Given the description of an element on the screen output the (x, y) to click on. 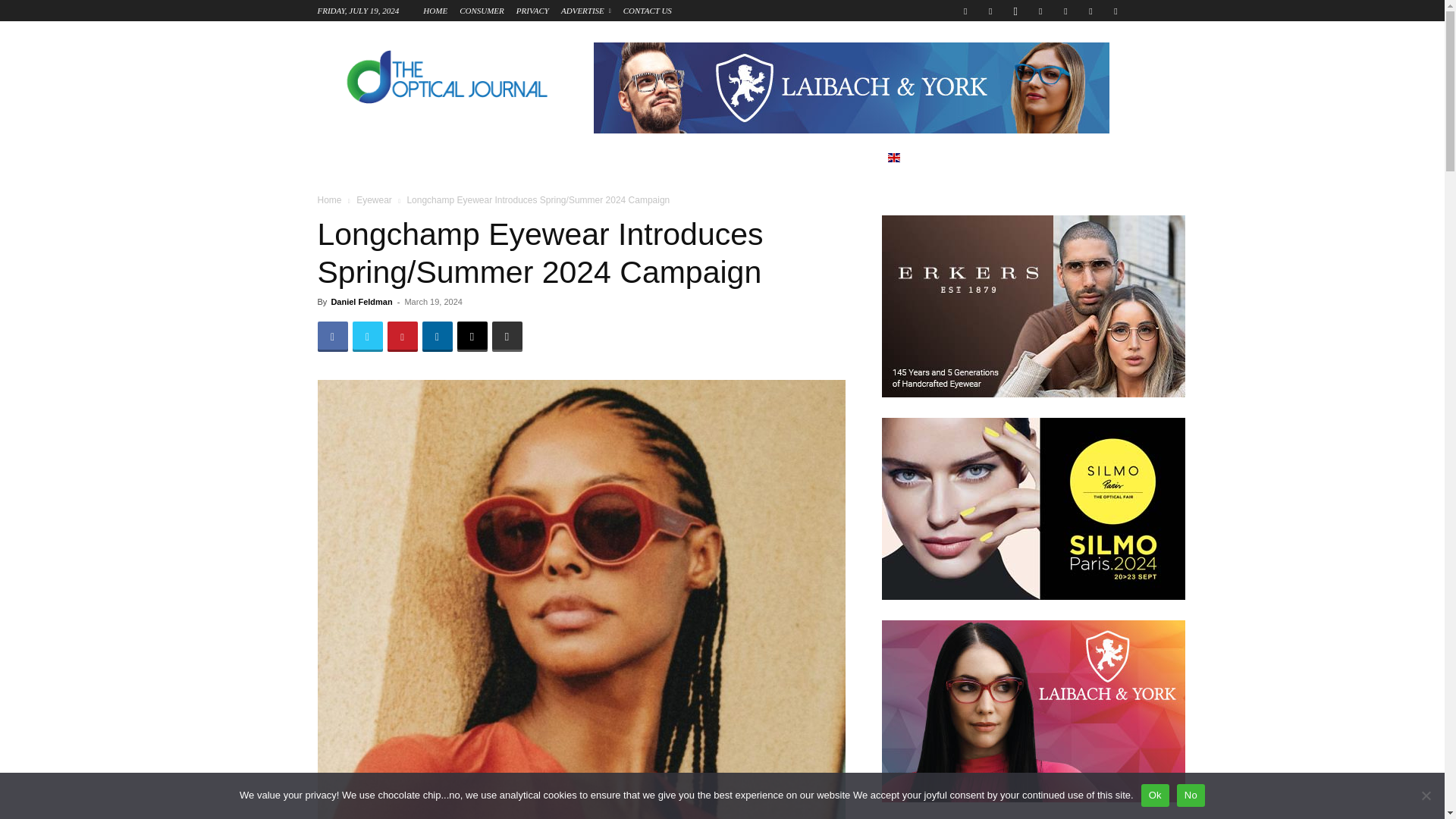
No (1425, 795)
